Given the description of an element on the screen output the (x, y) to click on. 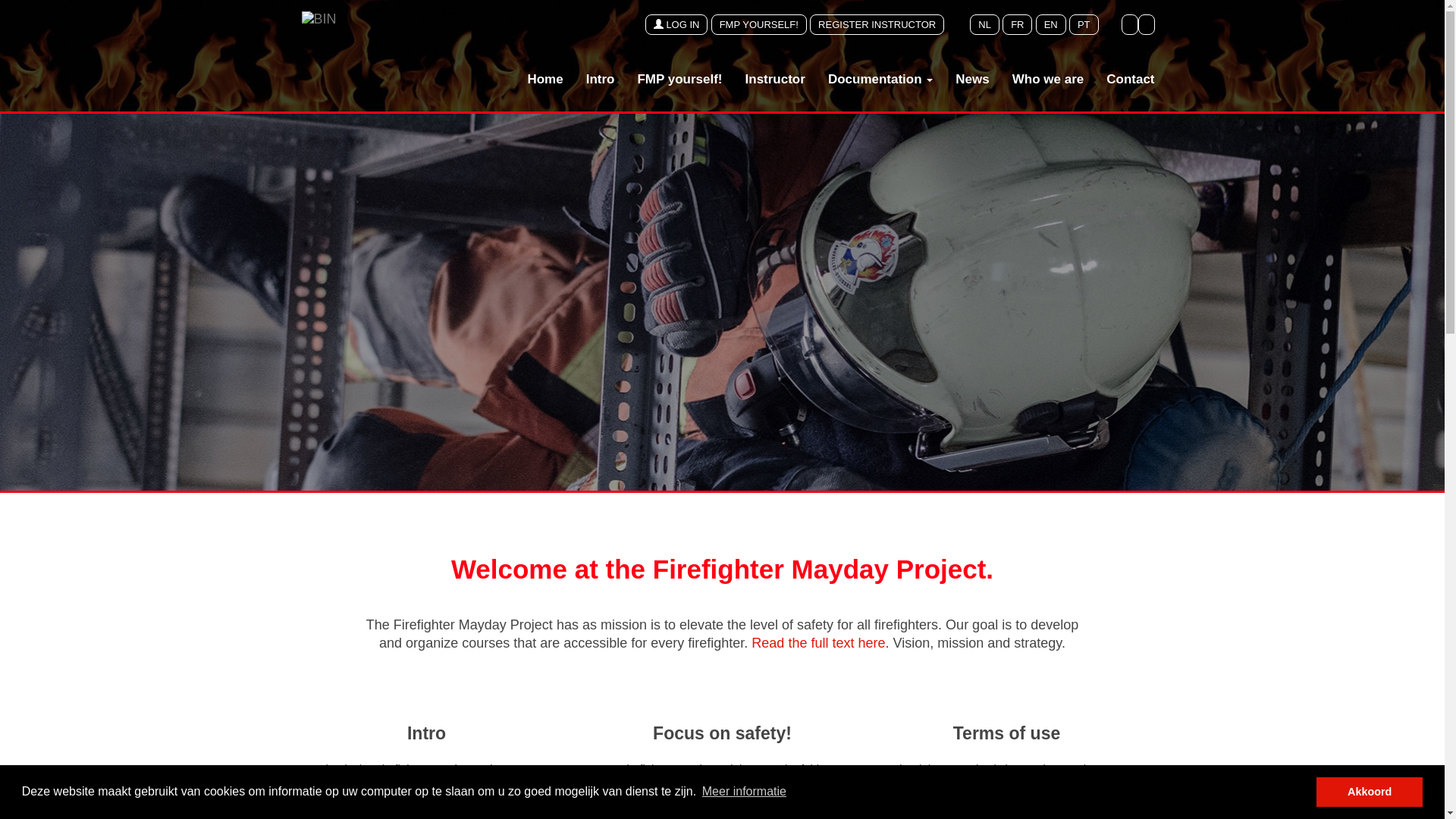
FMP YOURSELF! Element type: text (758, 24)
Akkoord Element type: text (1369, 791)
LOG IN Element type: text (676, 24)
FR Element type: text (1017, 24)
REGISTER INSTRUCTOR Element type: text (876, 24)
Intro Element type: text (600, 79)
Instructor Element type: text (775, 79)
Meer informatie Element type: text (744, 791)
Home Element type: text (544, 79)
PT Element type: text (1083, 24)
NL Element type: text (984, 24)
Read the full text here Element type: text (817, 642)
FMP yourself! Element type: text (679, 79)
EN Element type: text (1050, 24)
Documentation Element type: text (880, 79)
News Element type: text (972, 79)
Who we are Element type: text (1048, 79)
Contact Element type: text (1130, 79)
